Given the description of an element on the screen output the (x, y) to click on. 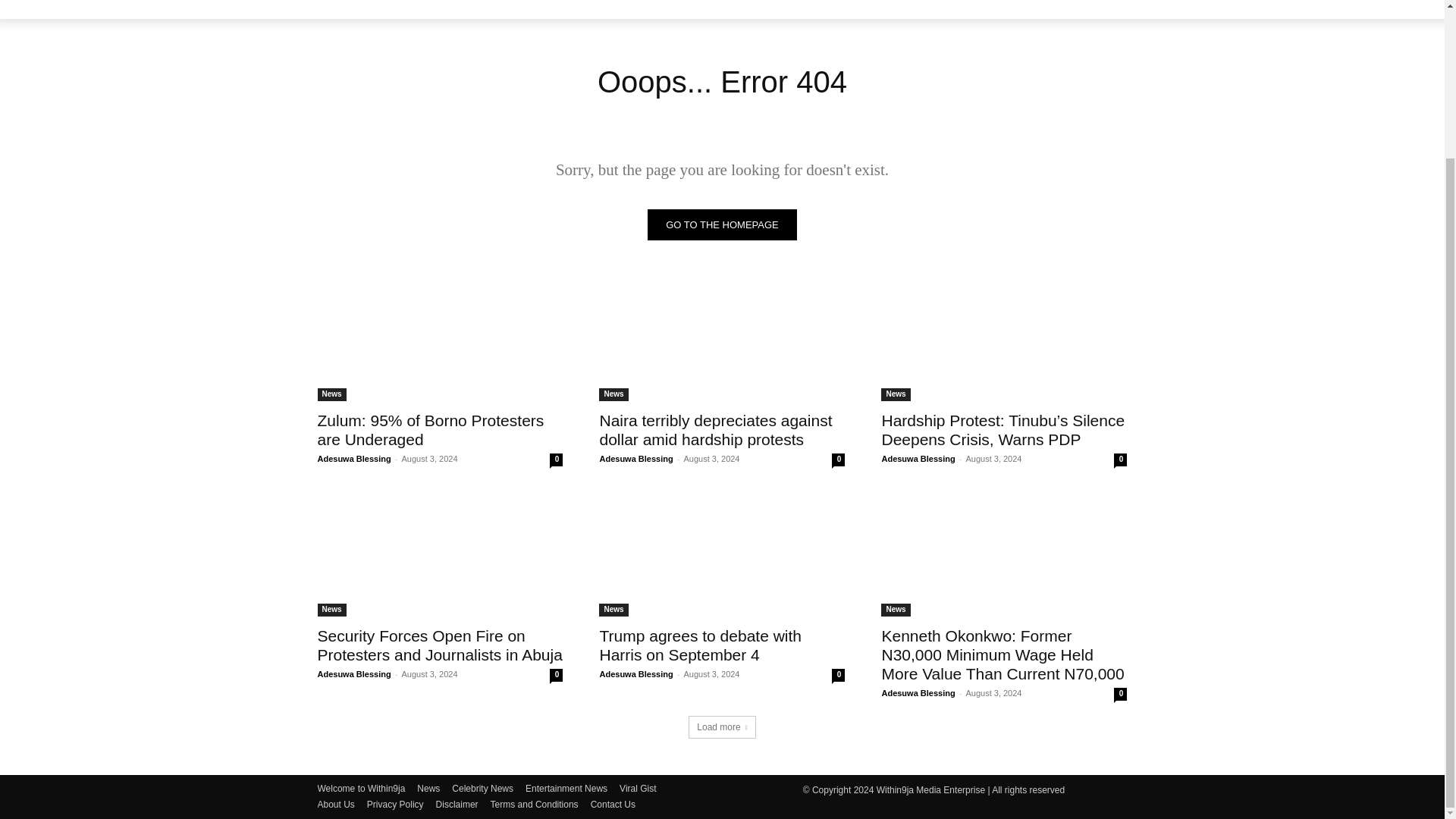
Adesuwa Blessing (917, 458)
0 (556, 459)
Go to the homepage (721, 224)
News (331, 394)
Trump agrees to debate with Harris on September 4 (721, 554)
